Given the description of an element on the screen output the (x, y) to click on. 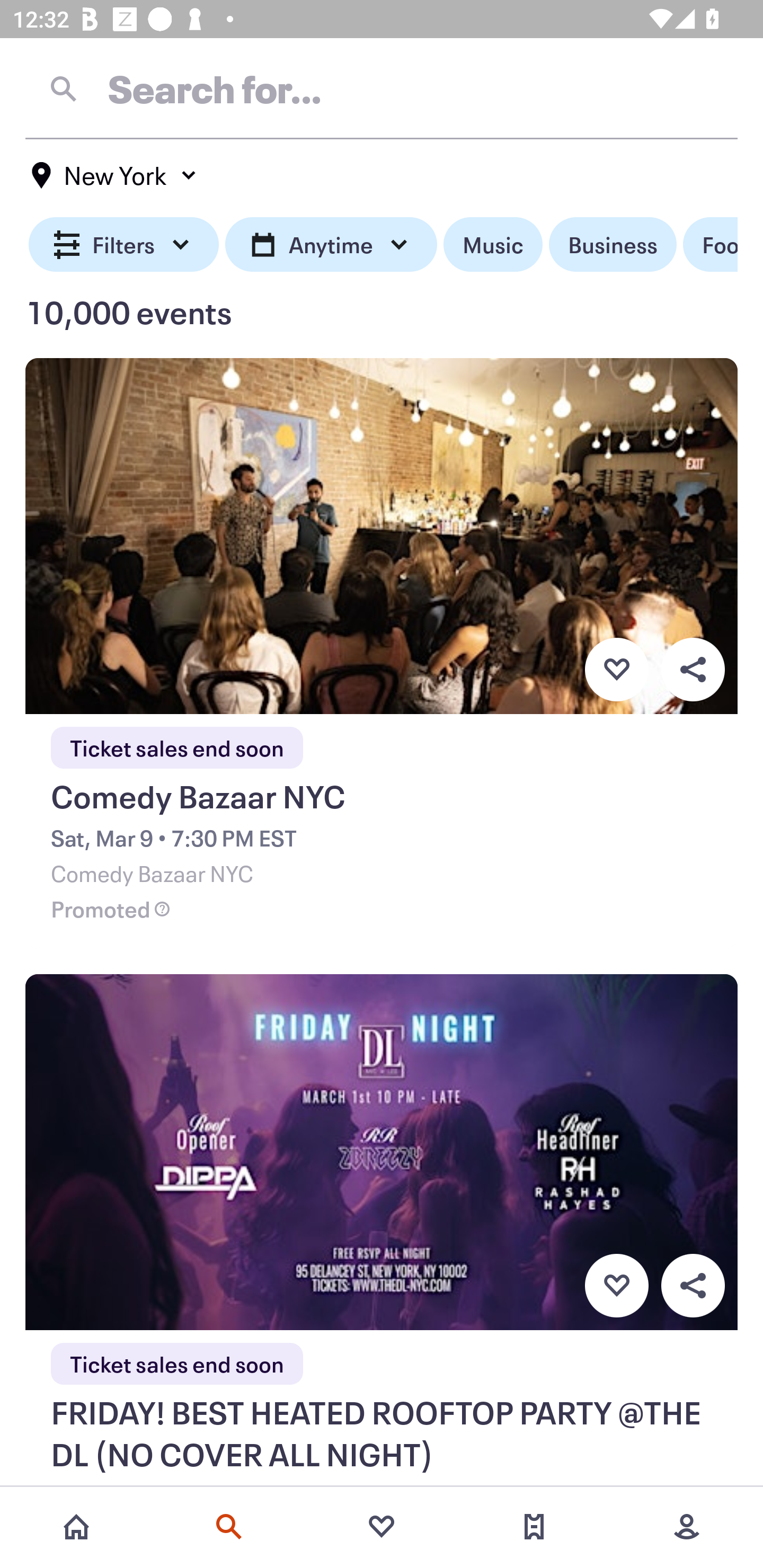
Search for… (381, 88)
New York (114, 175)
Filters (123, 244)
Anytime (331, 244)
Music (492, 244)
Business (612, 244)
Favorite button (616, 669)
Overflow menu button (692, 669)
Favorite button (616, 1285)
Overflow menu button (692, 1285)
Home (76, 1526)
Search events (228, 1526)
Favorites (381, 1526)
Tickets (533, 1526)
More (686, 1526)
